Given the description of an element on the screen output the (x, y) to click on. 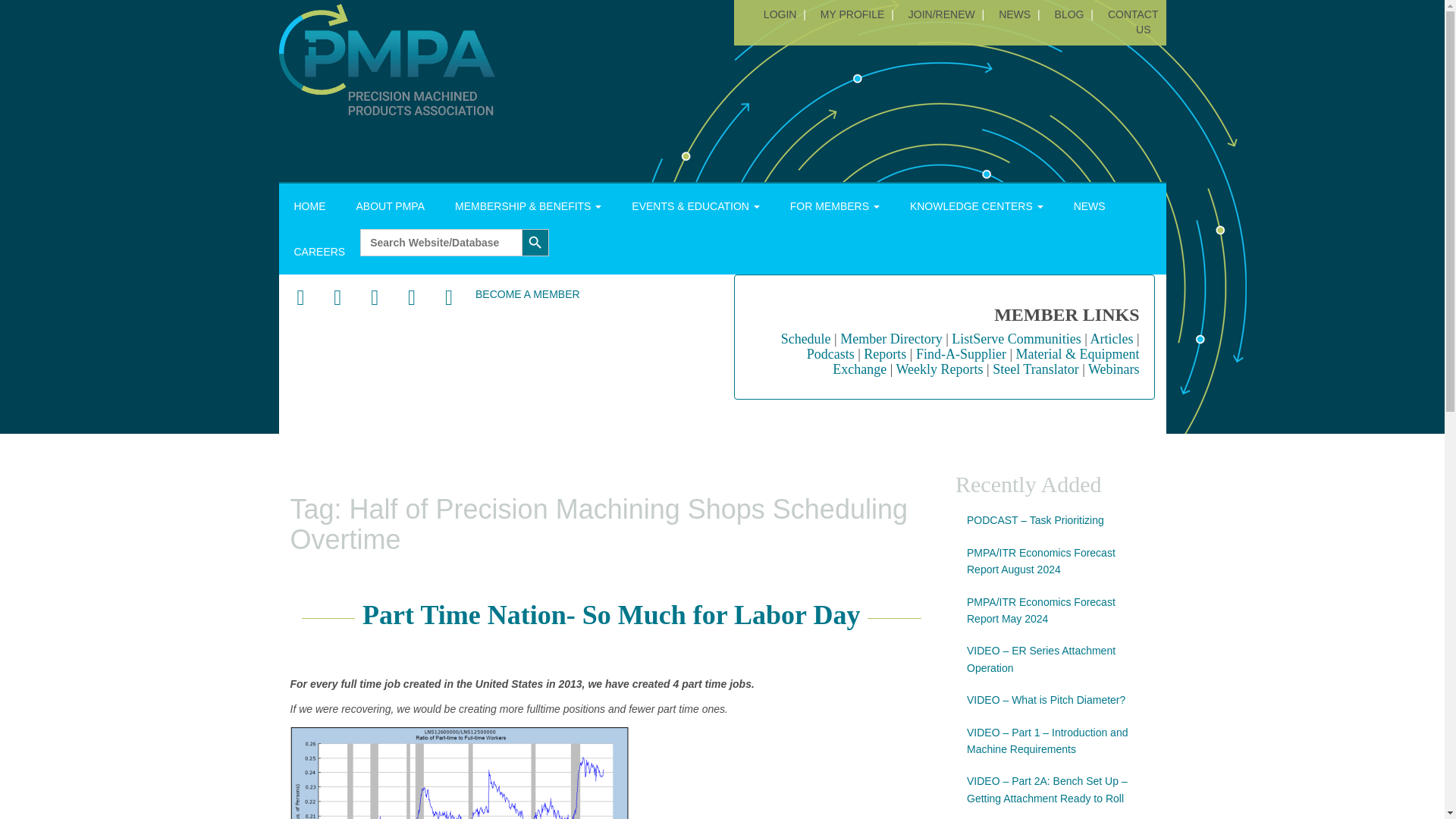
BLOG (1069, 14)
LinkedIn (374, 297)
HOME (309, 206)
NEWS (1013, 14)
FOR MEMBERS (834, 206)
Twitter (336, 297)
LOGIN (780, 14)
CONTACT US (1130, 22)
Instagram (411, 297)
Facebook (300, 297)
